Given the description of an element on the screen output the (x, y) to click on. 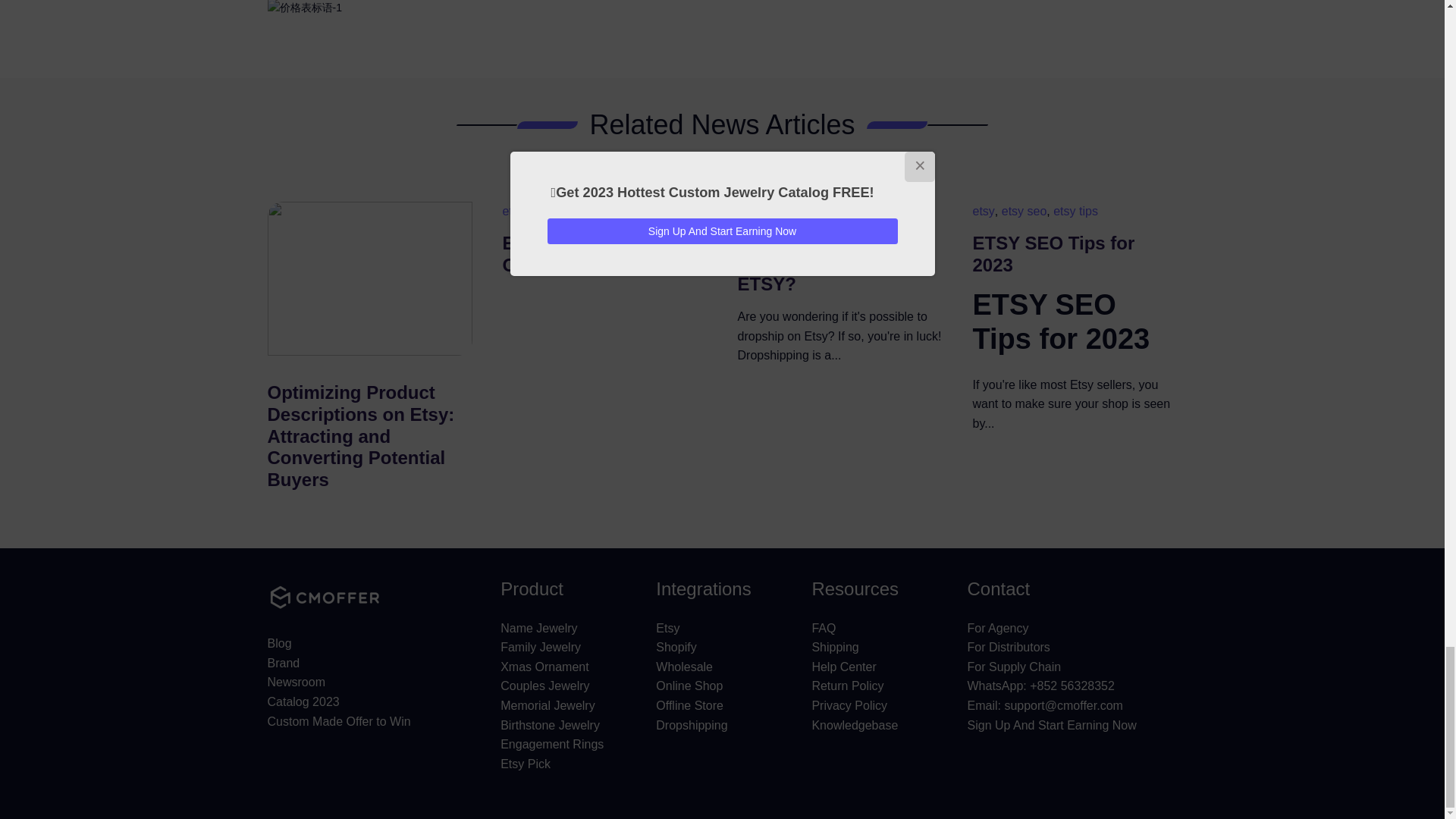
CMOFFER (323, 597)
